Given the description of an element on the screen output the (x, y) to click on. 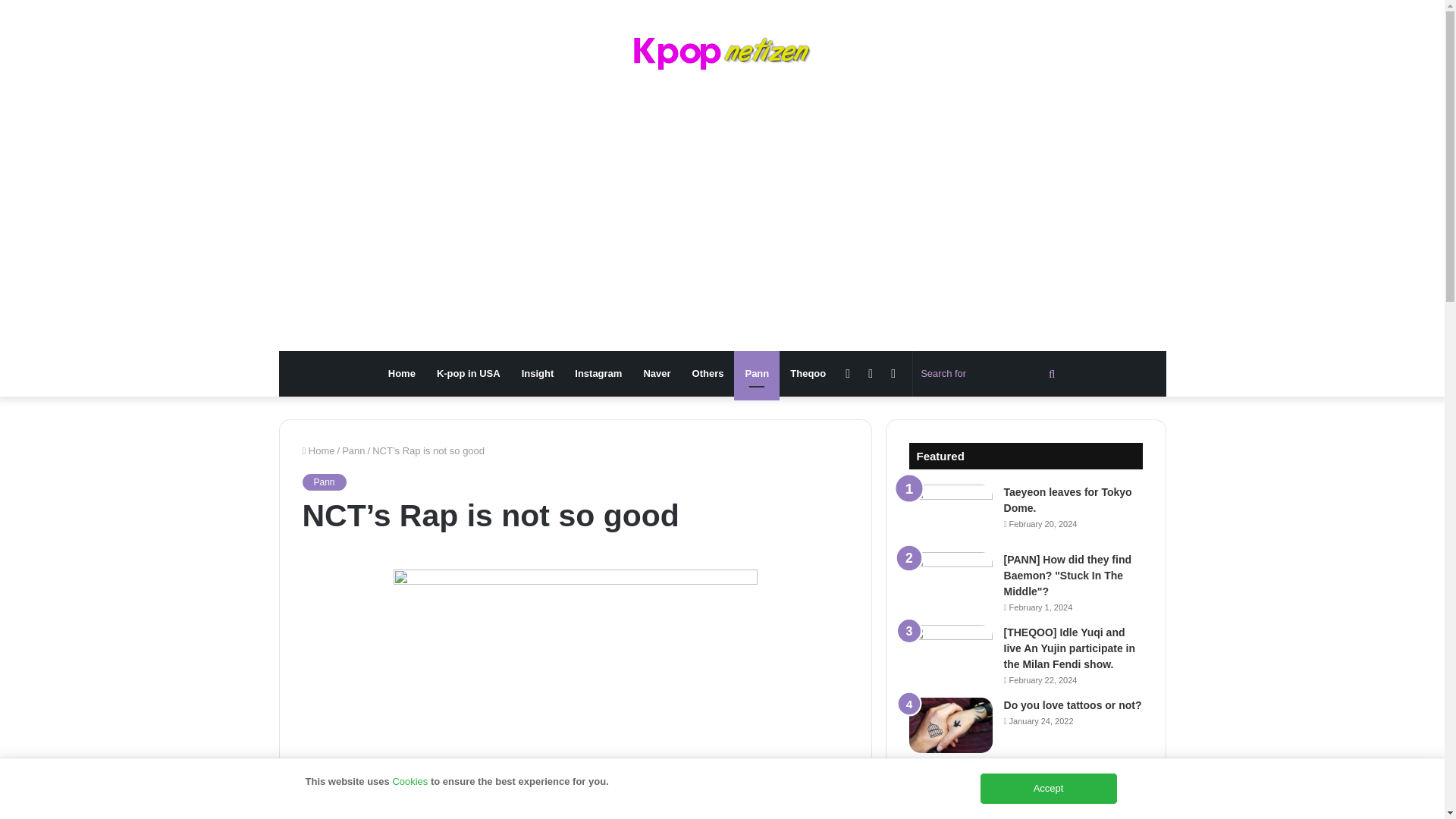
Theqoo (806, 373)
Others (708, 373)
Pann (755, 373)
Pann (353, 450)
Pann (323, 482)
K-pop in USA (468, 373)
Search for (989, 373)
Home (317, 450)
Insight (537, 373)
Instagram (597, 373)
Home (401, 373)
Naver (656, 373)
